Given the description of an element on the screen output the (x, y) to click on. 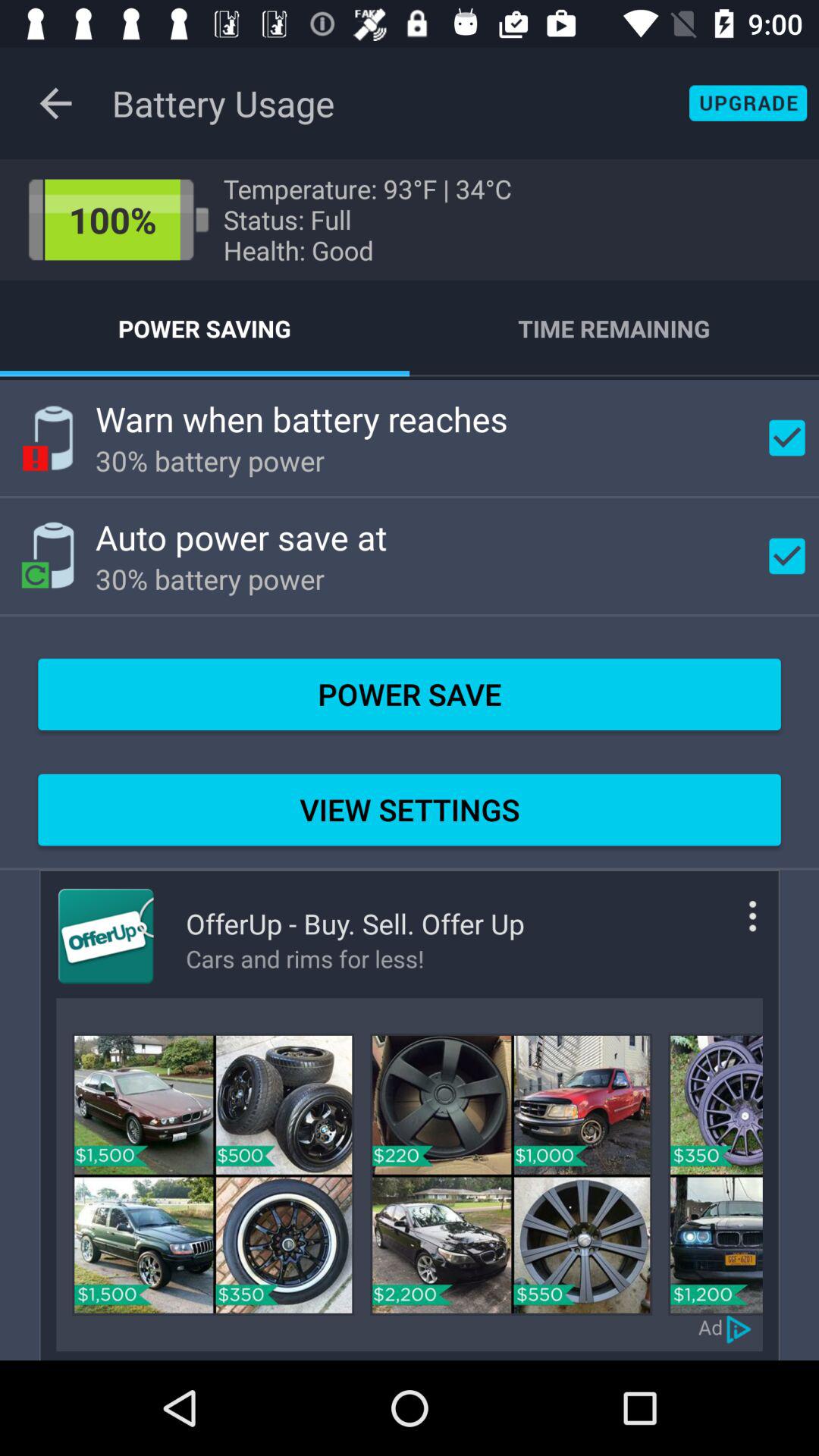
view item for sale (715, 1174)
